Given the description of an element on the screen output the (x, y) to click on. 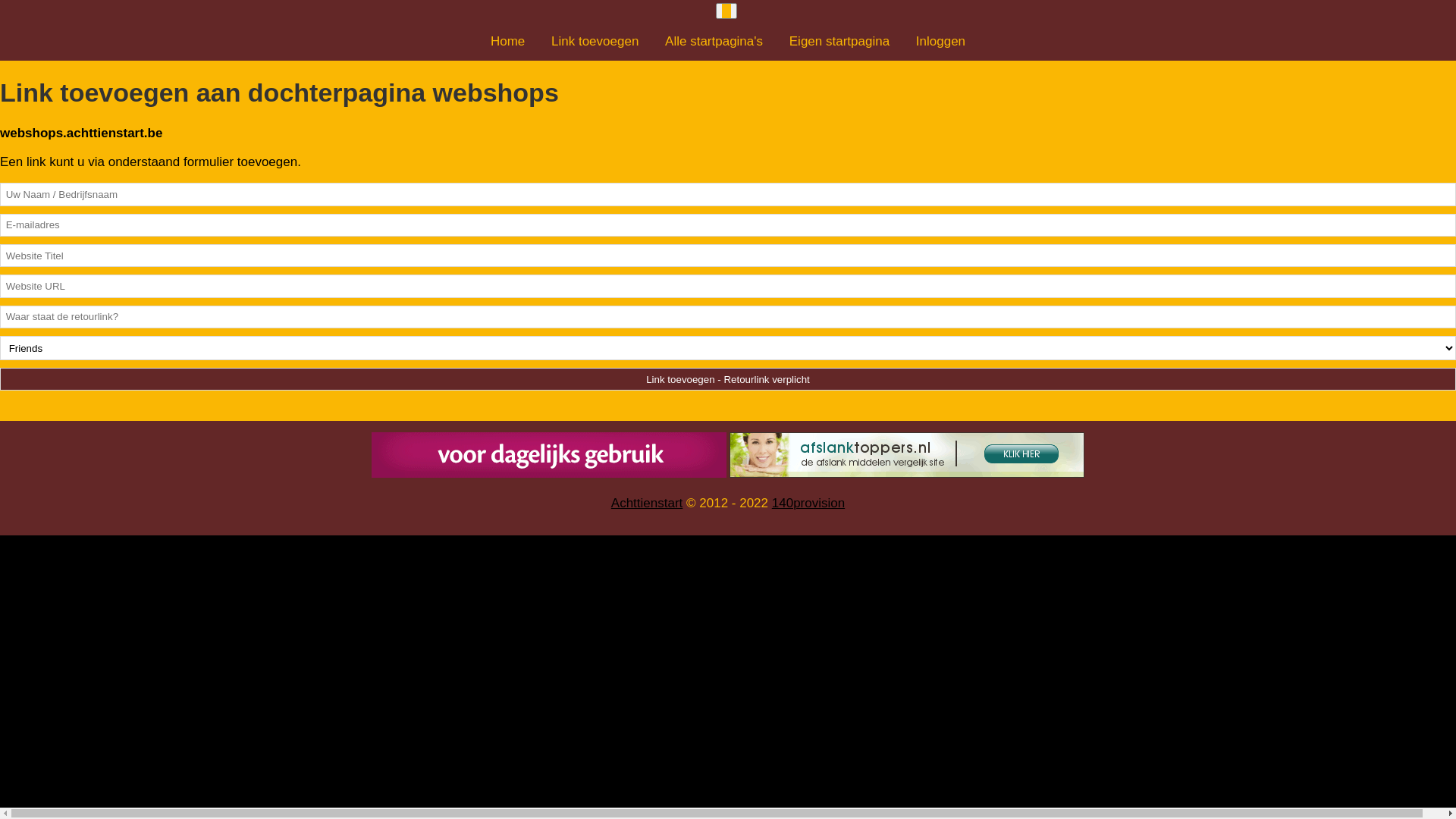
Stevige grote borsten in 20 dagen Element type: hover (548, 454)
Home Element type: text (507, 40)
Eigen startpagina Element type: text (839, 40)
Alle startpagina's Element type: text (713, 40)
Inloggen Element type: text (940, 40)
140provision Element type: text (807, 502)
De beste afslankmiddelen op een site Element type: hover (906, 454)
Link toevoegen Element type: text (594, 40)
Achttienstart Element type: text (647, 502)
